Given the description of an element on the screen output the (x, y) to click on. 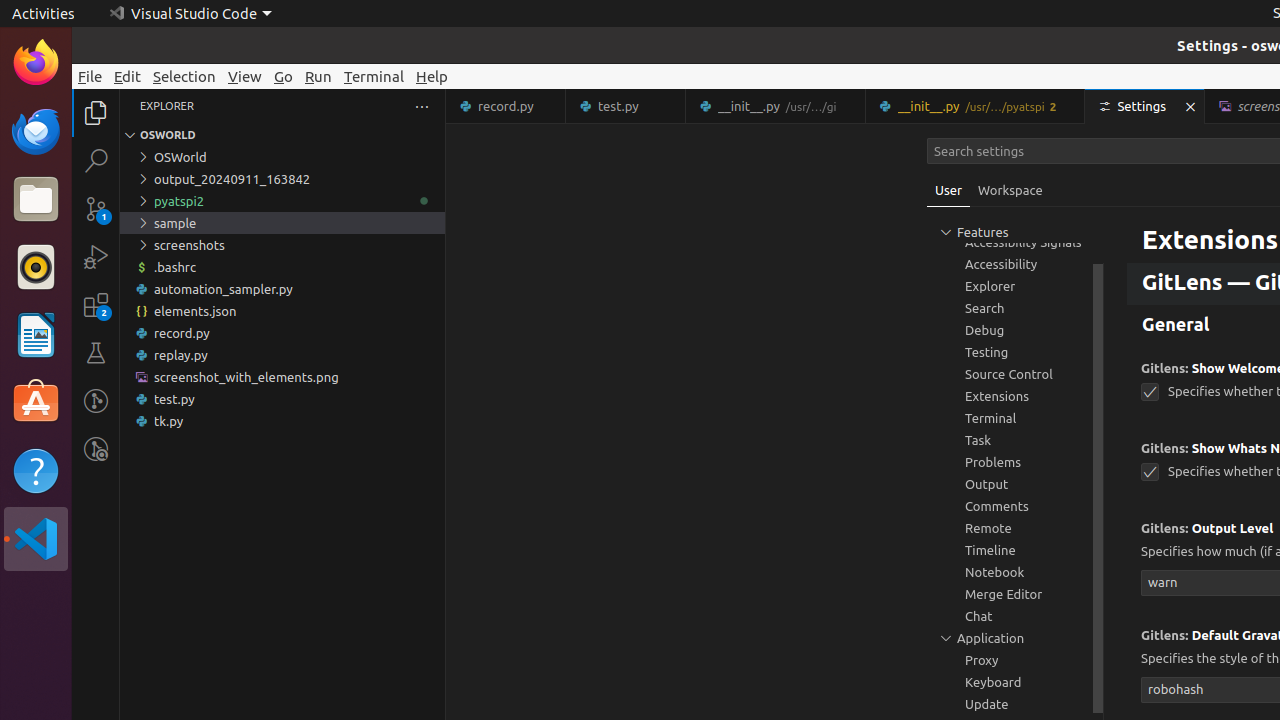
View Element type: push-button (245, 76)
Firefox Web Browser Element type: push-button (36, 63)
Run Element type: push-button (318, 76)
test.py Element type: tree-item (282, 399)
Workspace Element type: check-box (1010, 190)
